Given the description of an element on the screen output the (x, y) to click on. 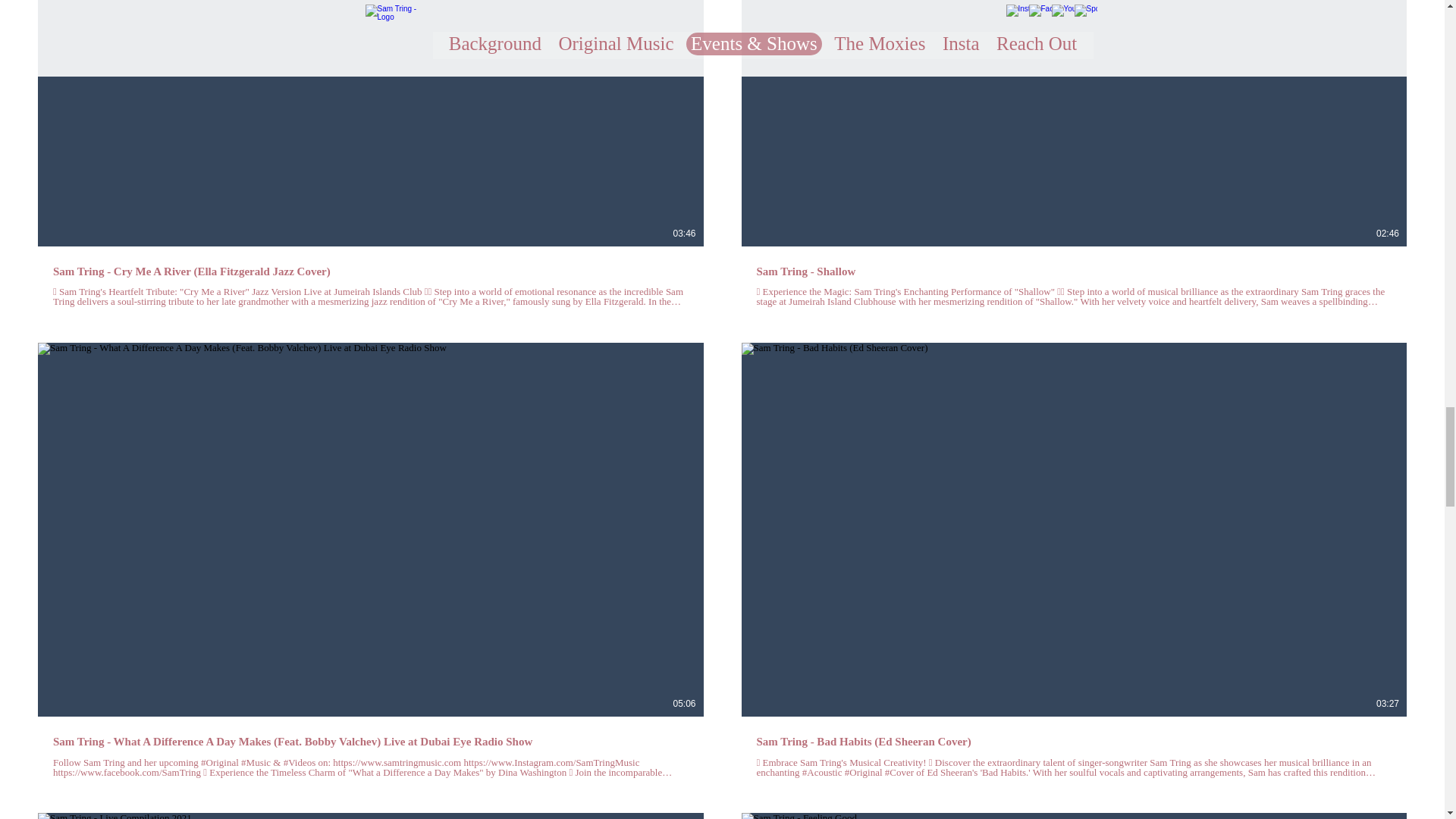
Sam Tring - Shallow (1074, 271)
